Given the description of an element on the screen output the (x, y) to click on. 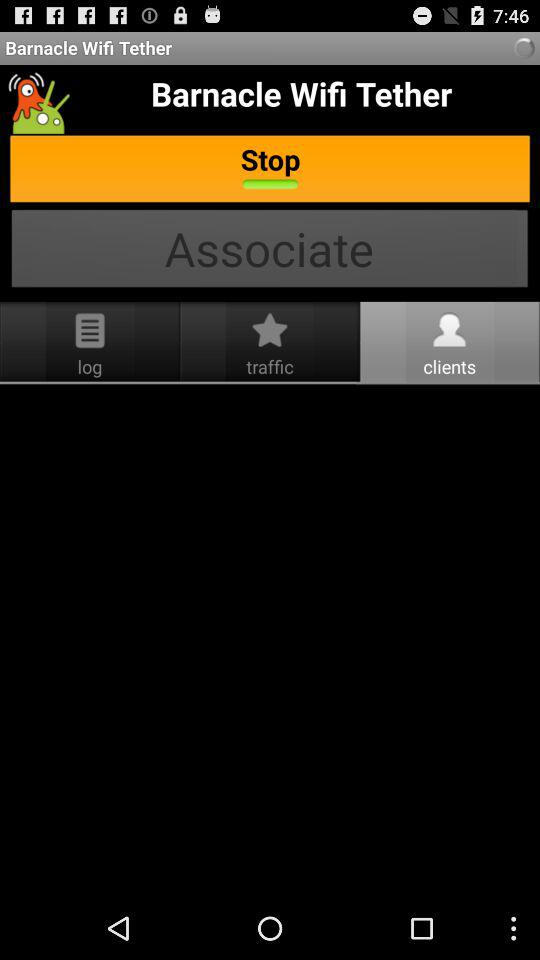
enter (270, 641)
